Given the description of an element on the screen output the (x, y) to click on. 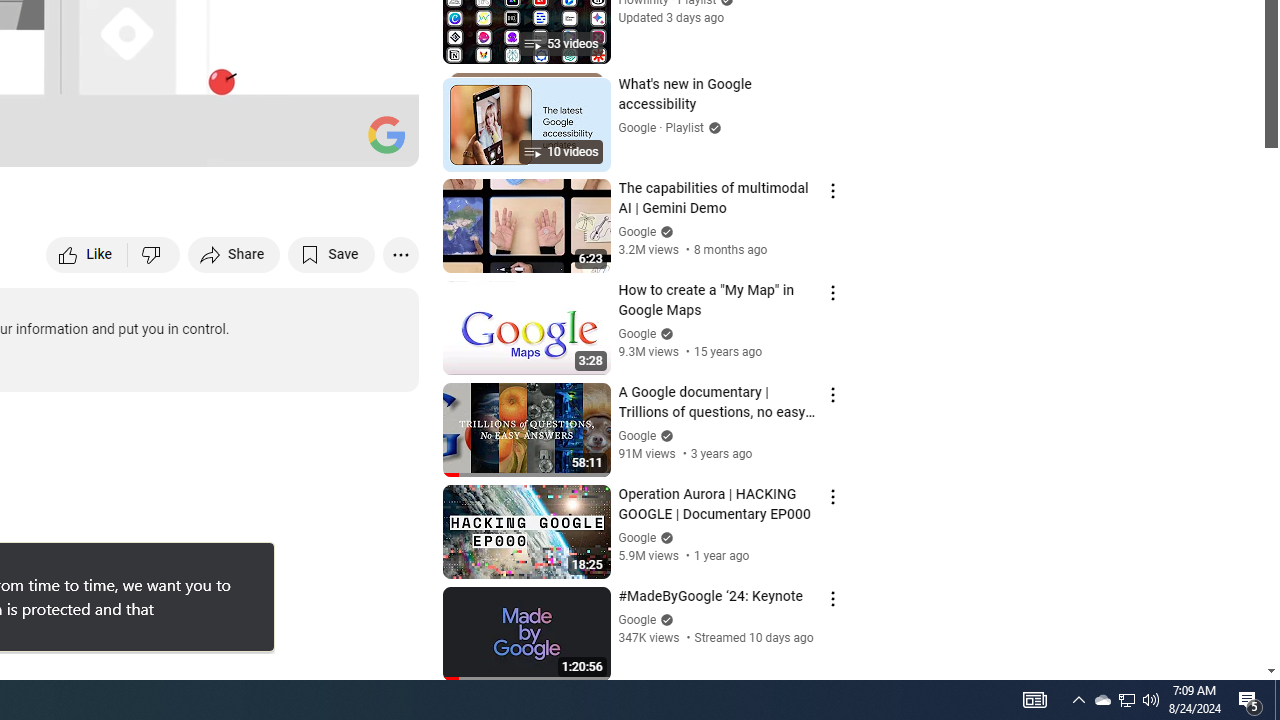
Channel watermark (386, 134)
Like (87, 254)
Miniplayer (i) (286, 142)
Subtitles/closed captions unavailable (190, 142)
Full screen (f) (382, 142)
More actions (399, 254)
Channel watermark (386, 134)
Dislike this video (154, 254)
Save to playlist (331, 254)
